Given the description of an element on the screen output the (x, y) to click on. 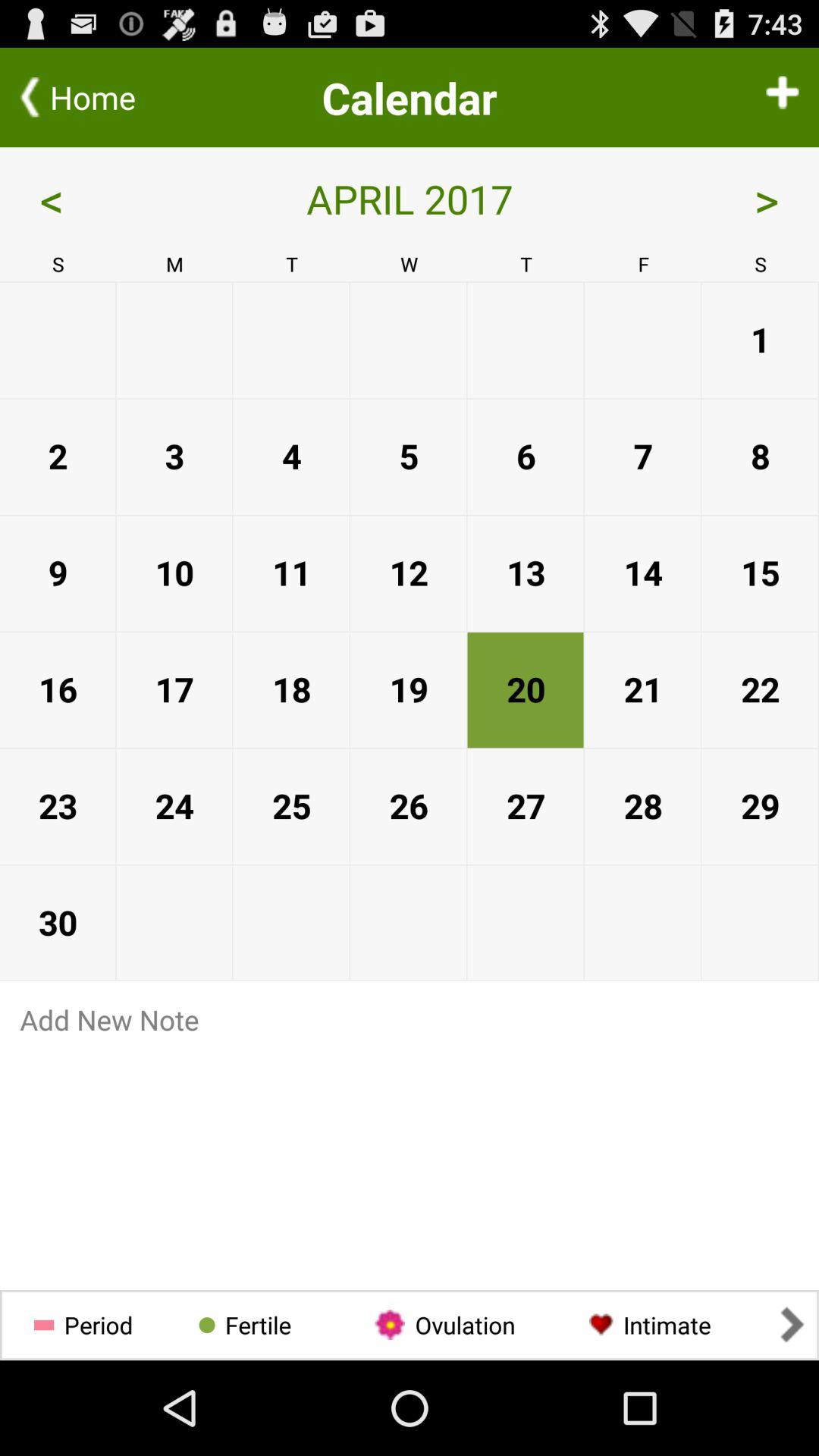
select item below the home button (102, 198)
